Given the description of an element on the screen output the (x, y) to click on. 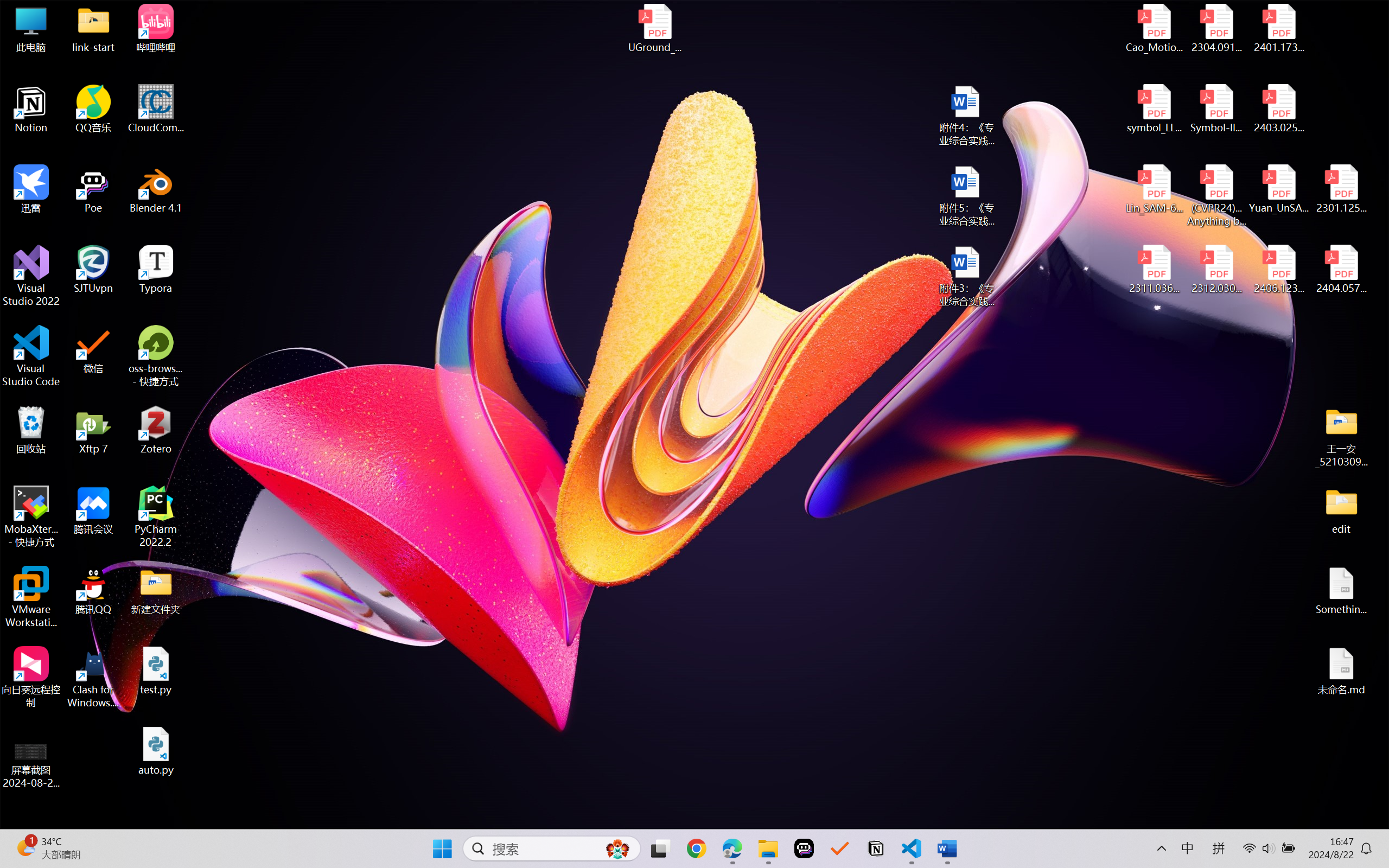
Something.md (1340, 591)
2311.03658v2.pdf (1154, 269)
2403.02502v1.pdf (1278, 109)
Google Chrome (696, 848)
